Given the description of an element on the screen output the (x, y) to click on. 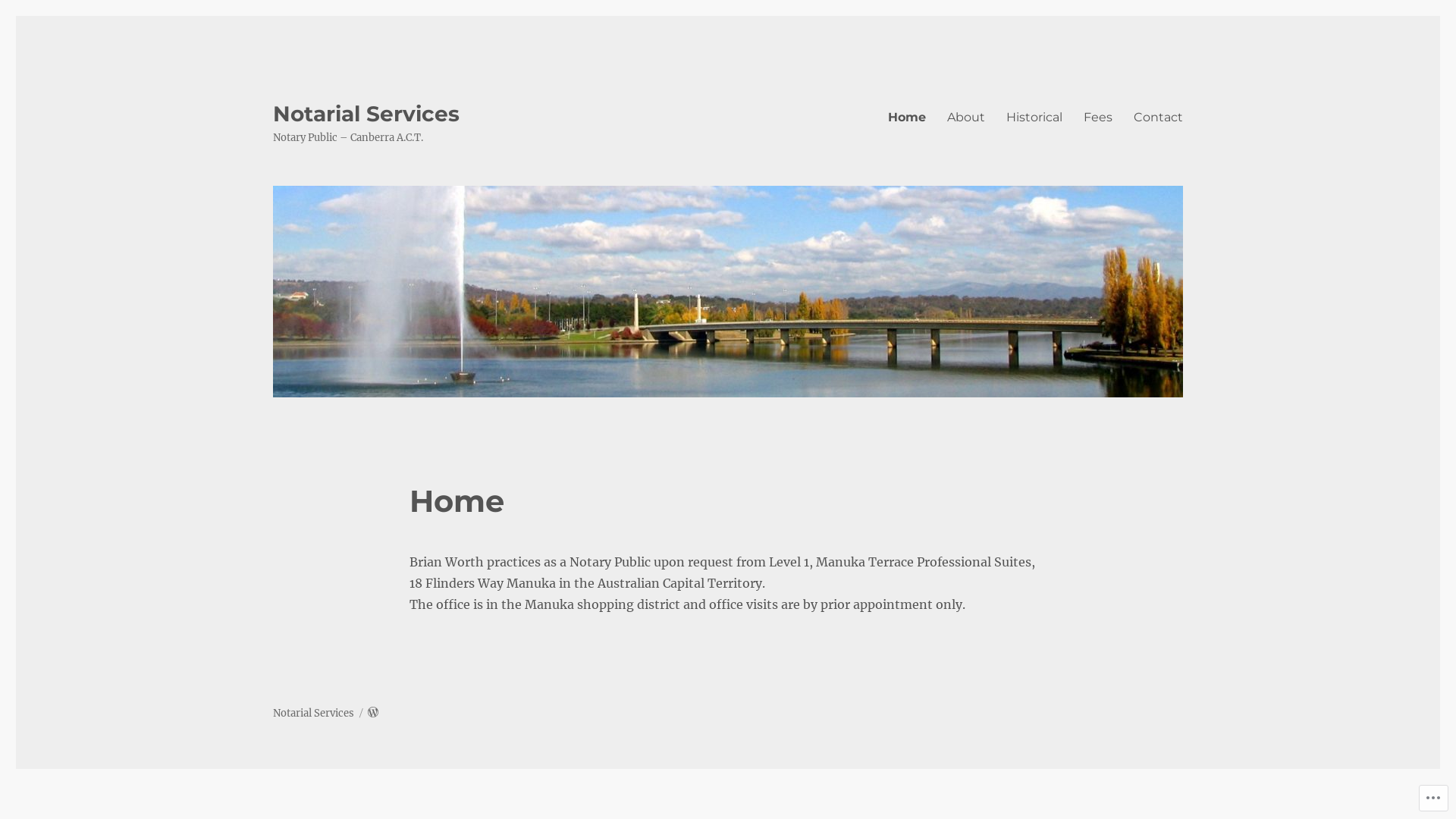
Create a website or blog at WordPress.com Element type: text (372, 712)
Contact Element type: text (1158, 116)
Historical Element type: text (1034, 116)
Home Element type: text (906, 116)
Fees Element type: text (1098, 116)
About Element type: text (965, 116)
Notarial Services Element type: text (366, 113)
Notarial Services Element type: text (313, 712)
